Given the description of an element on the screen output the (x, y) to click on. 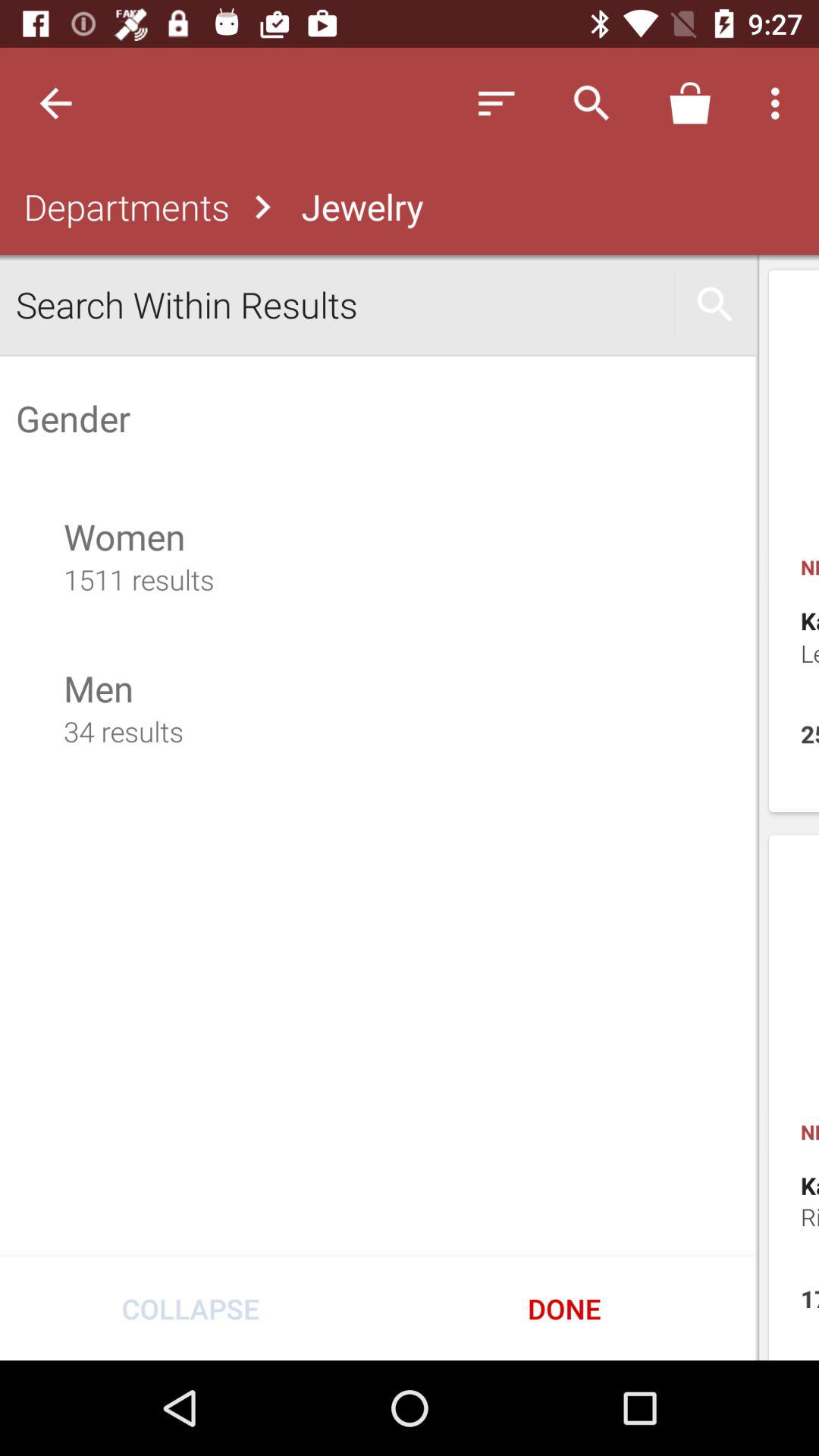
open the icon to the right of the jewelry  item (496, 103)
